Given the description of an element on the screen output the (x, y) to click on. 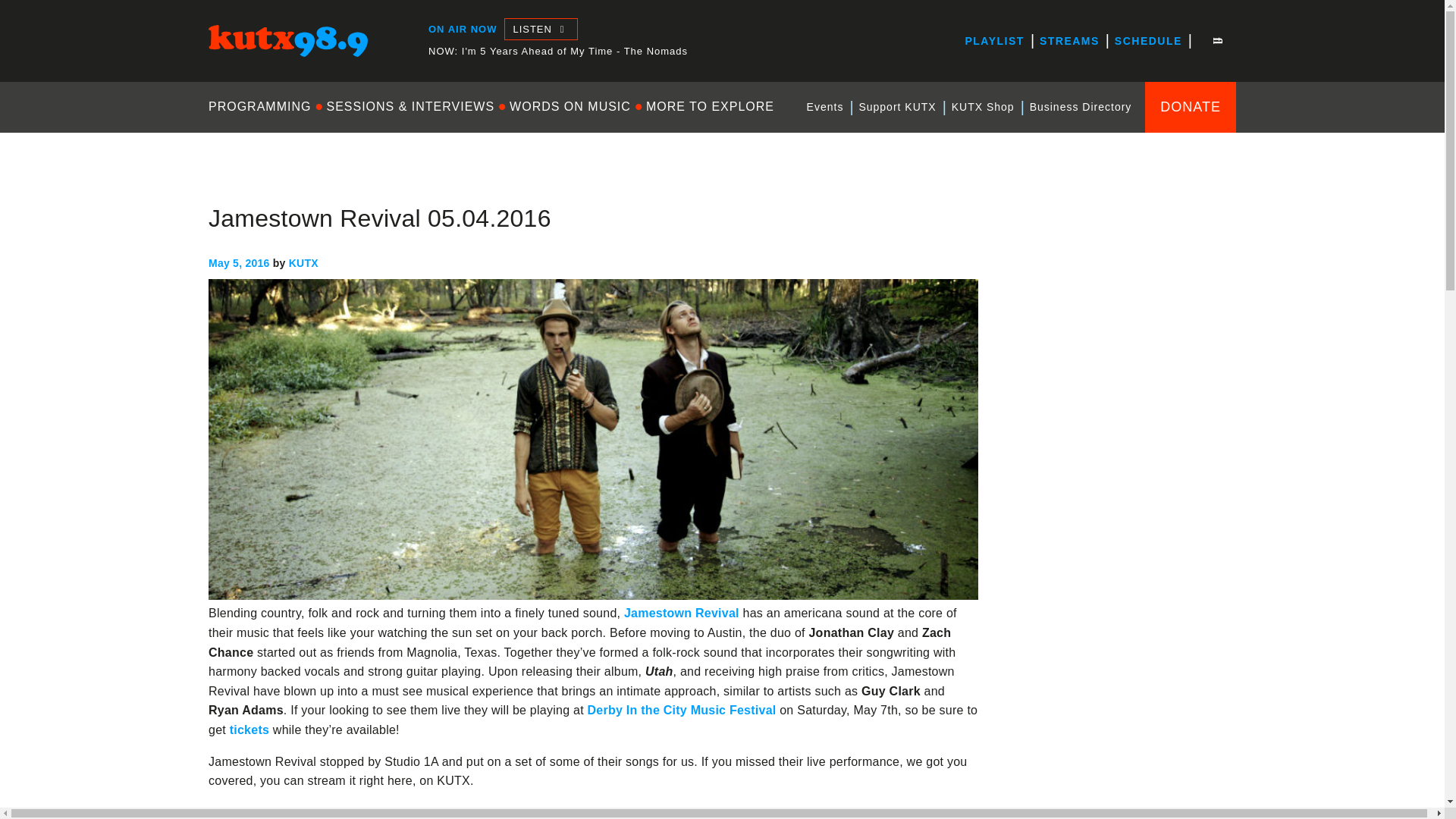
DONATE (1190, 106)
SCHEDULE (1147, 40)
KUTX Shop (982, 106)
WORDS ON MUSIC (570, 106)
PLAYLIST (993, 40)
Support KUTX (896, 106)
Business Directory (1081, 106)
PROGRAMMING (263, 106)
3rd party ad content (1122, 497)
STREAMS (1069, 40)
3rd party ad content (1122, 701)
LISTEN (539, 29)
3rd party ad content (1122, 292)
KUTX (224, 69)
Events (825, 106)
